Given the description of an element on the screen output the (x, y) to click on. 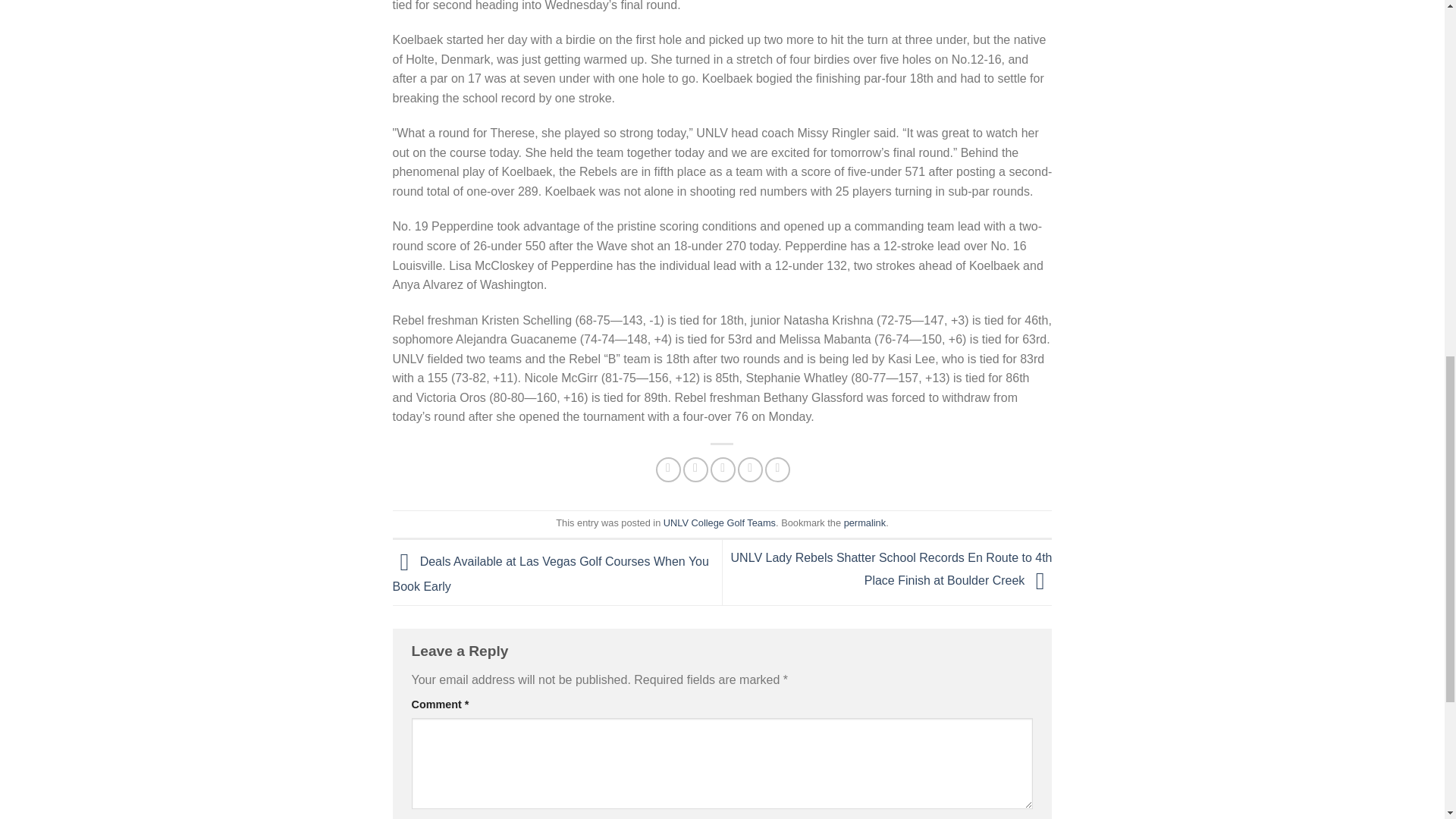
UNLV College Golf Teams (719, 522)
permalink (864, 522)
